Given the description of an element on the screen output the (x, y) to click on. 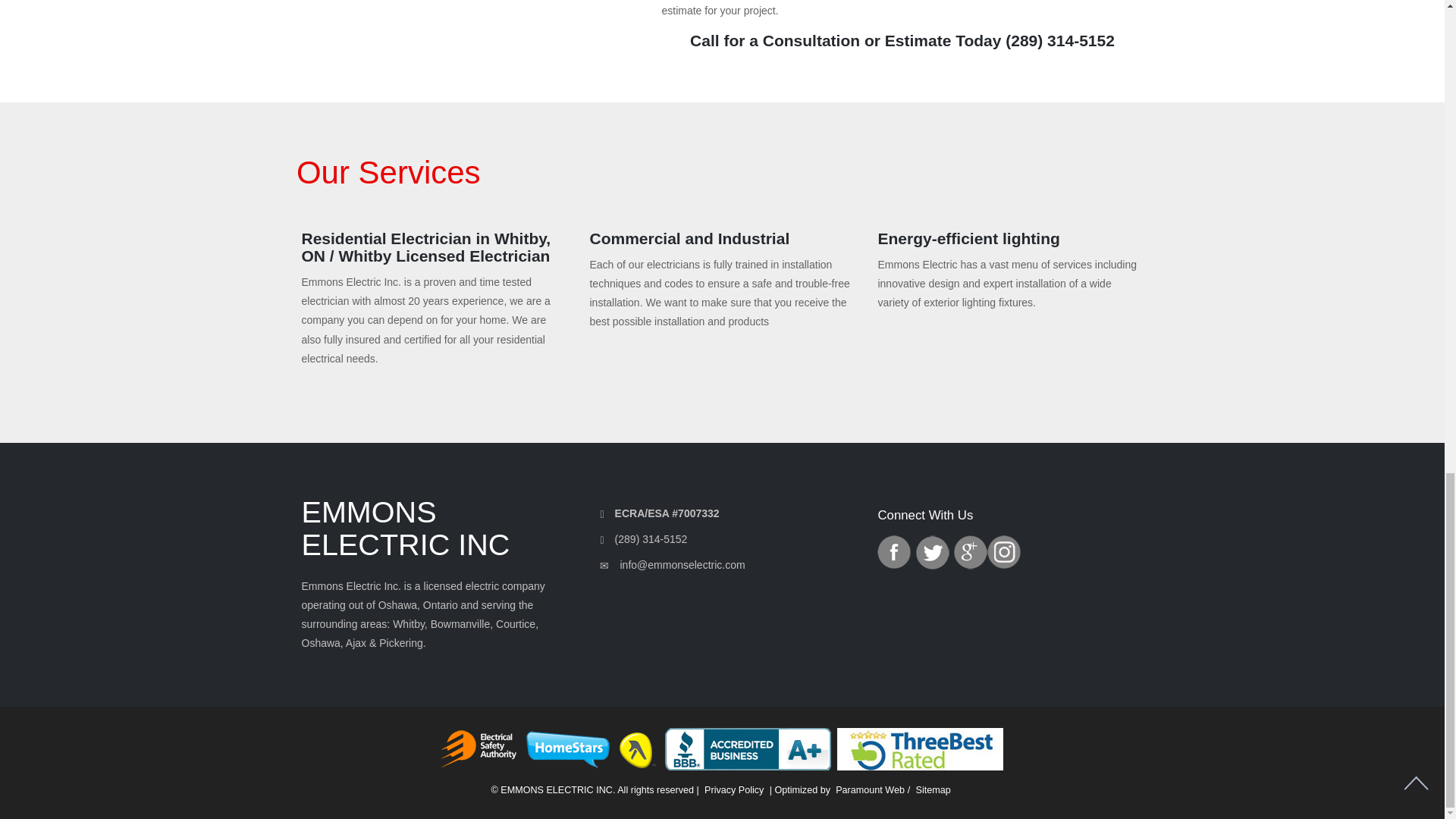
Paramount Web (869, 789)
EMMONS ELECTRIC INC (434, 528)
Sitemap (932, 789)
Privacy Policy (733, 789)
